Given the description of an element on the screen output the (x, y) to click on. 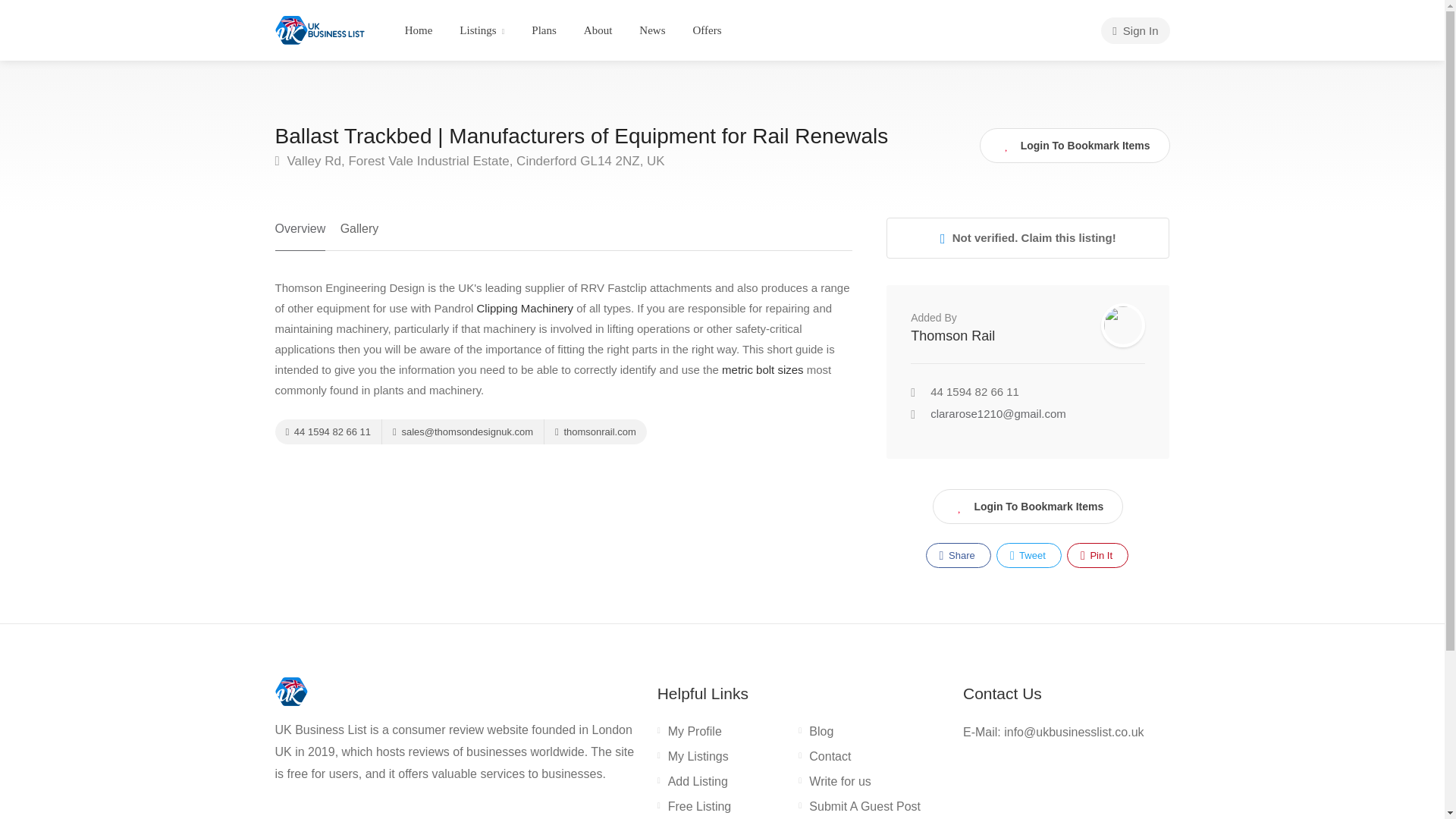
Thomson Rail (952, 335)
Clipping Machinery (524, 308)
Home (418, 30)
Overview (299, 234)
News (652, 30)
metric bolt sizes (762, 369)
Share (958, 555)
Listings (481, 30)
About (598, 30)
Plans (543, 30)
thomsonrail.com (594, 431)
Not verified. Claim this listing! (1027, 237)
Tweet (1028, 555)
44 1594 82 66 11 (328, 431)
